Given the description of an element on the screen output the (x, y) to click on. 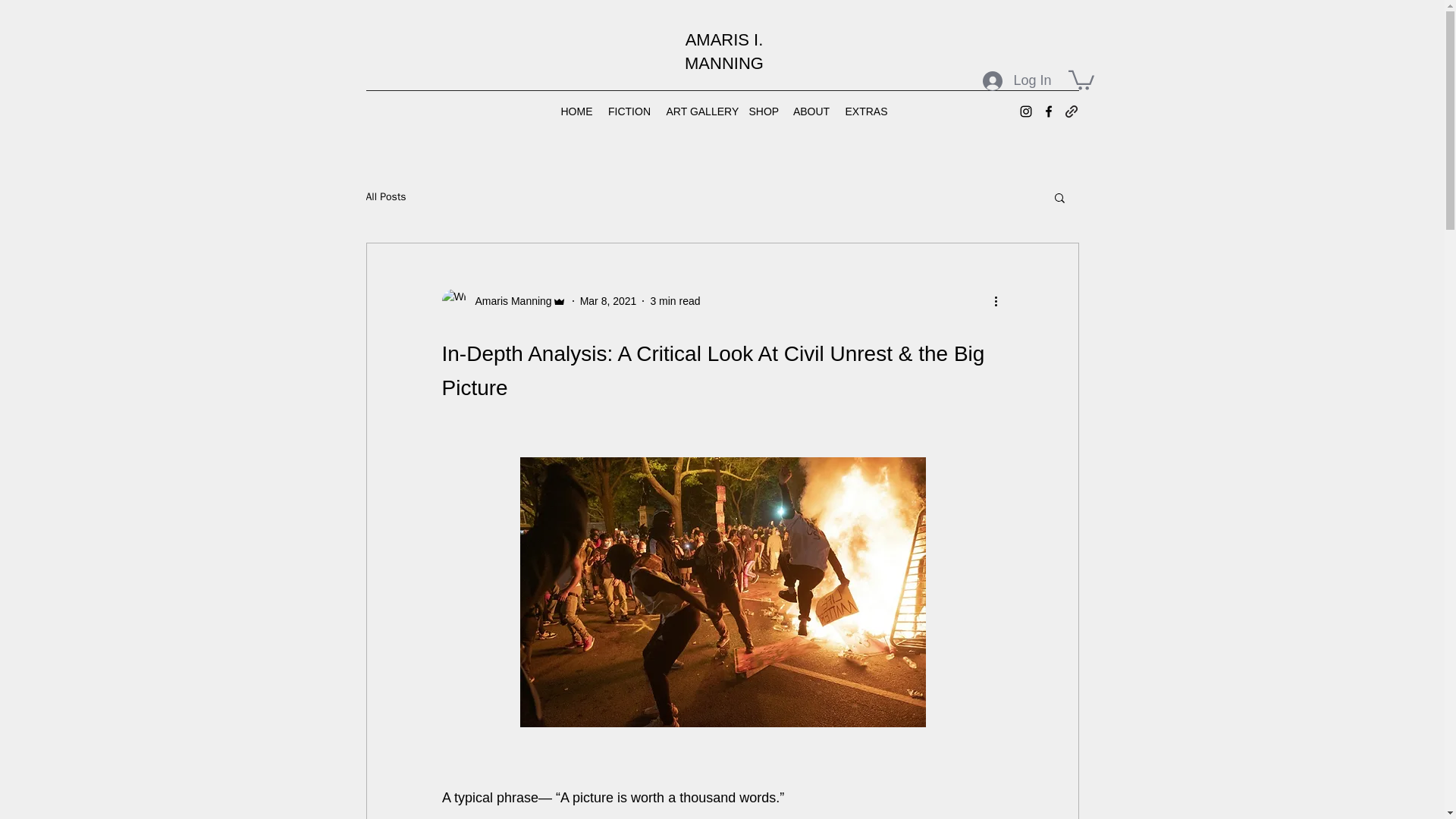
ABOUT (812, 110)
3 min read (674, 300)
Amaris Manning (508, 300)
AMARIS I. MANNING (723, 51)
Mar 8, 2021 (608, 300)
Log In (1016, 80)
EXTRAS (864, 110)
ART GALLERY (699, 110)
SHOP (763, 110)
All Posts (385, 196)
Amaris Manning (503, 300)
FICTION (629, 110)
HOME (576, 110)
